Given the description of an element on the screen output the (x, y) to click on. 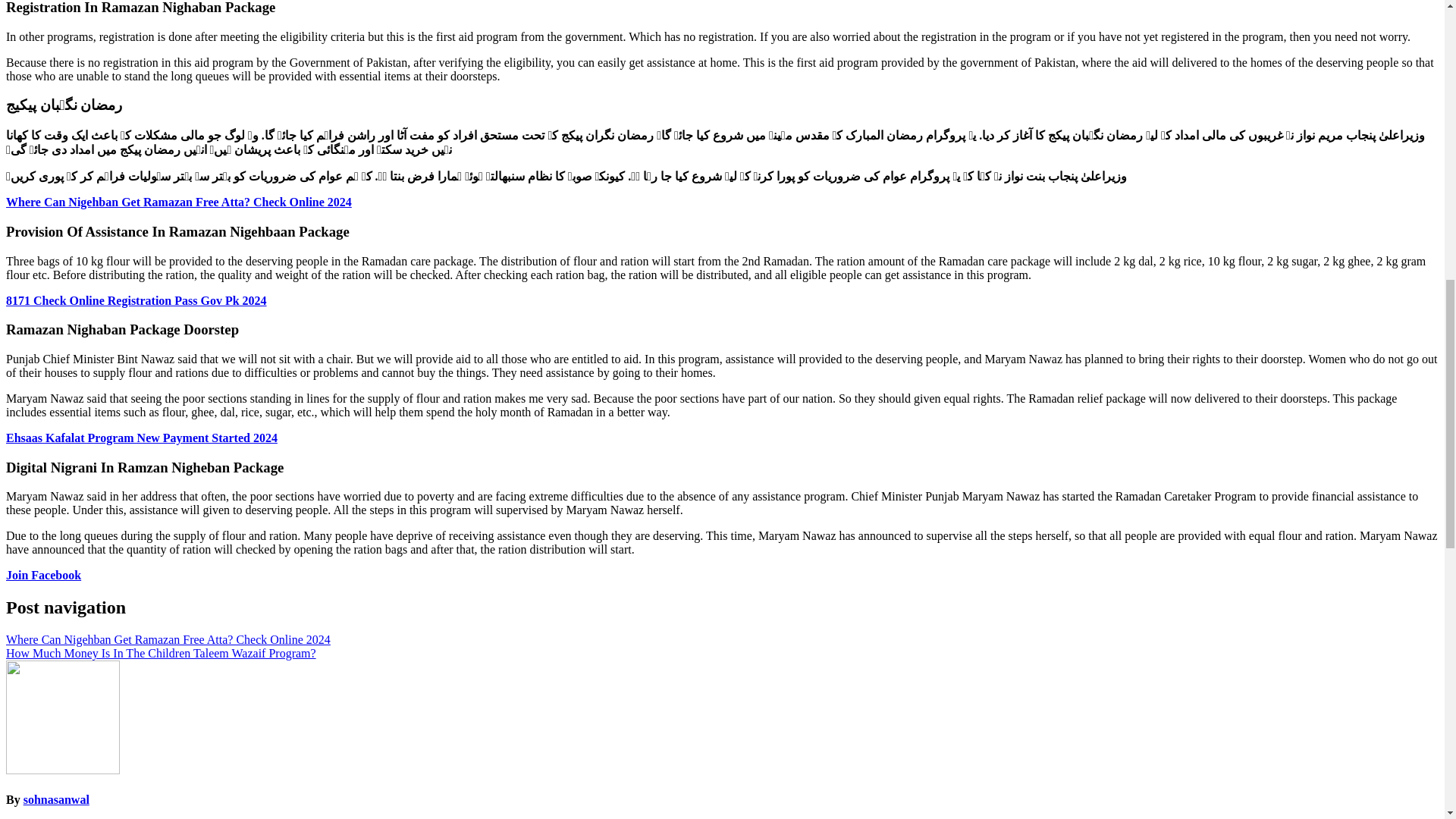
Where Can Nigehban Get Ramazan Free Atta? Check Online 2024 (178, 201)
Join Facebook (43, 574)
8171 Check Online Registration Pass Gov Pk 2024 (135, 300)
Ehsaas Kafalat Program New Payment Started 2024 (141, 437)
